Given the description of an element on the screen output the (x, y) to click on. 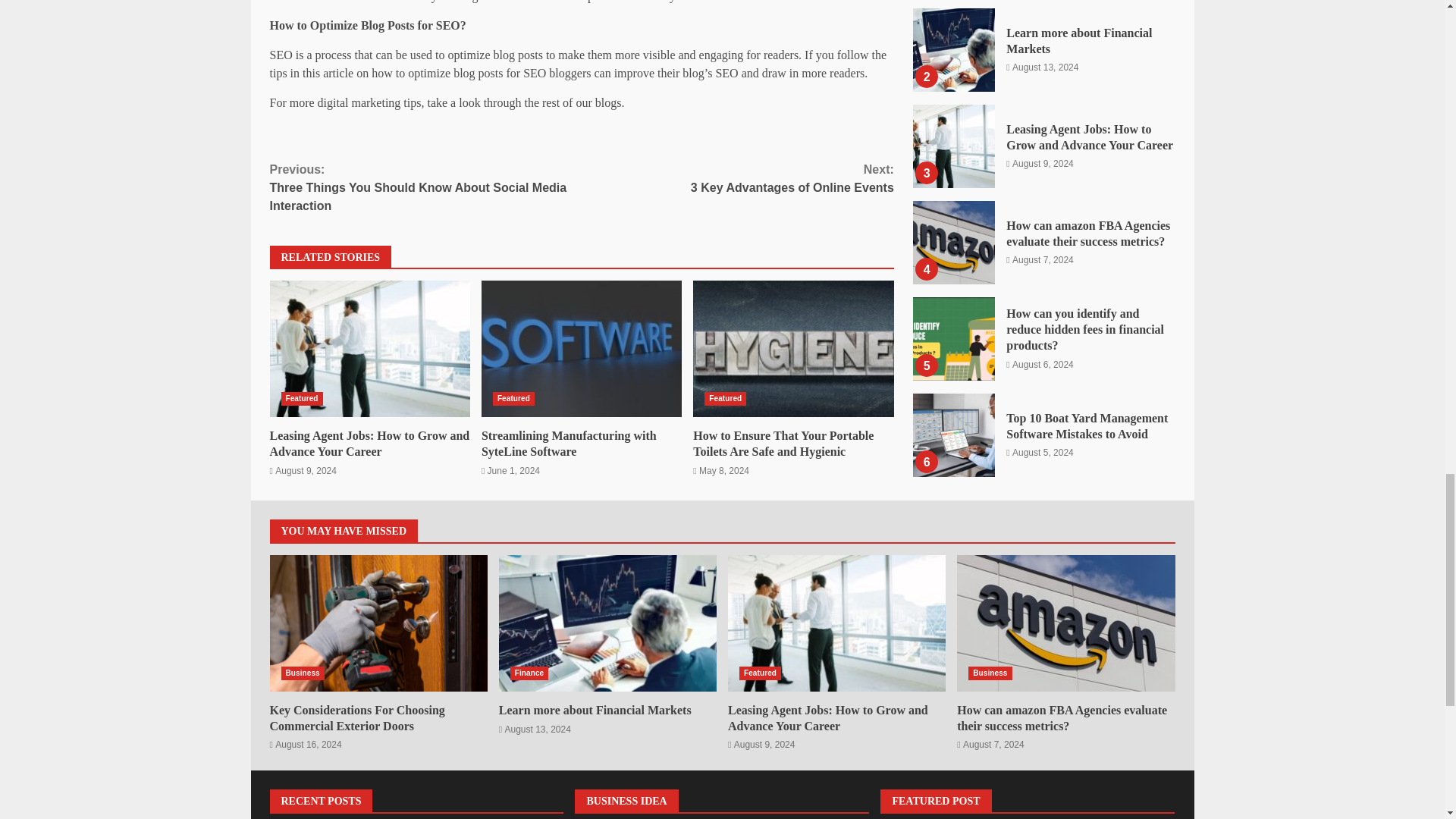
Leasing Agent Jobs: How to Grow and Advance Your Career (369, 443)
Featured (724, 398)
Leasing Agent Jobs: How to Grow and Advance Your Career (736, 178)
Streamlining Manufacturing with SyteLine Software (369, 348)
Streamlining Manufacturing with SyteLine Software (568, 443)
Featured (581, 348)
